Given the description of an element on the screen output the (x, y) to click on. 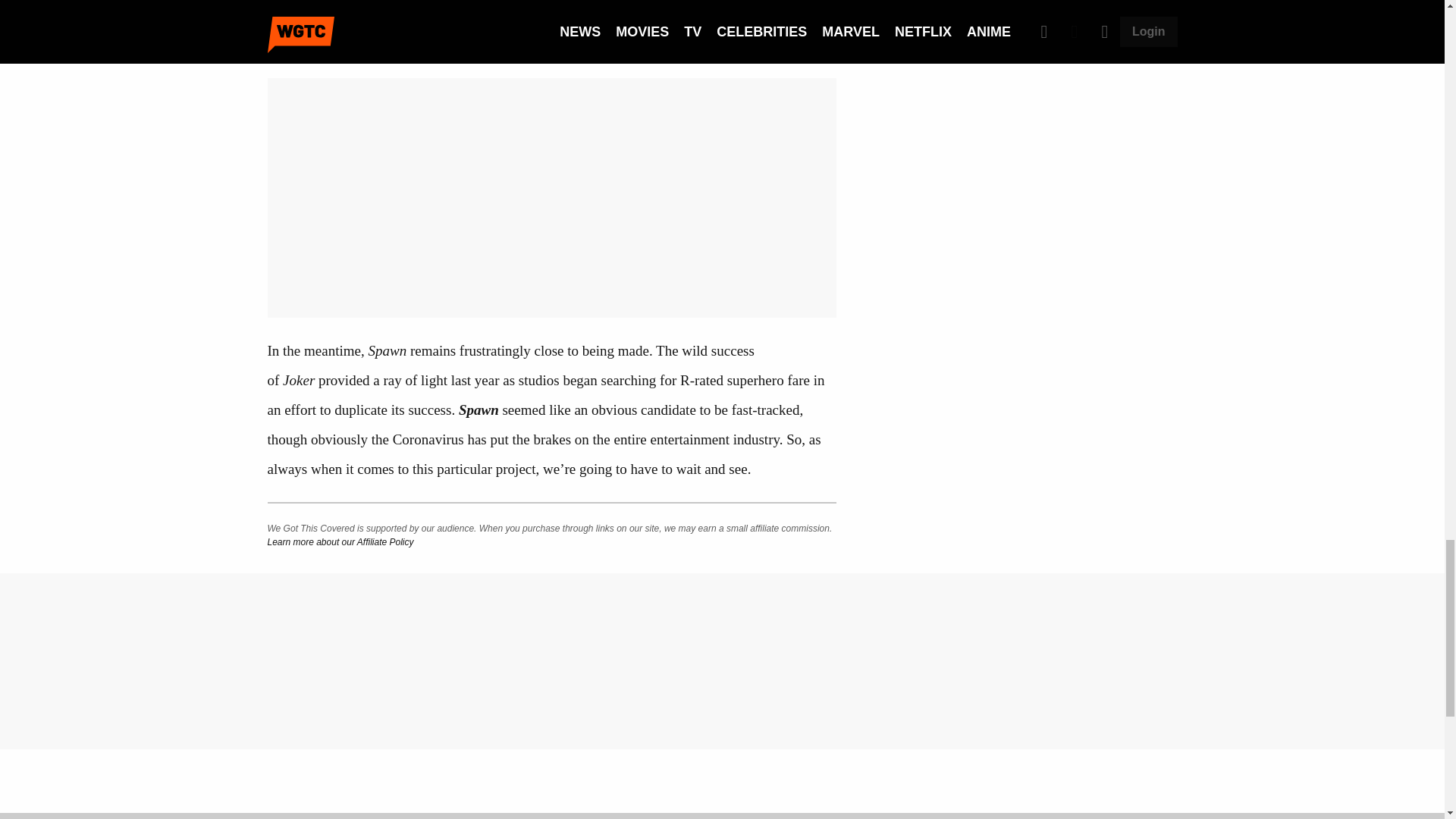
3rd party ad content (1024, 74)
